Given the description of an element on the screen output the (x, y) to click on. 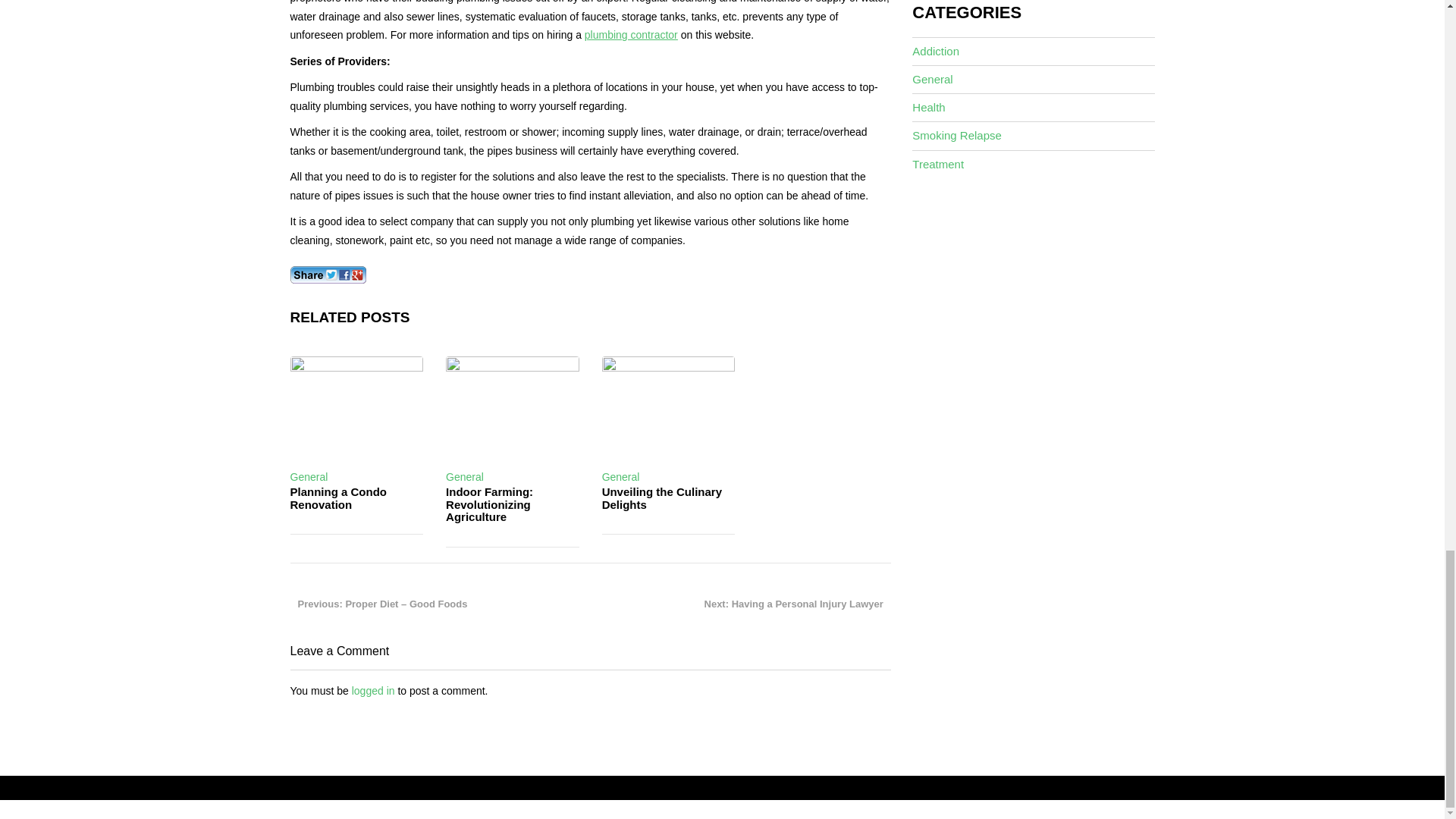
logged in (373, 690)
plumbing contractor (631, 34)
General (621, 476)
General (308, 476)
Indoor Farming: Revolutionizing Agriculture (488, 504)
General (464, 476)
Unveiling the Culinary Delights (662, 498)
Planning a Condo Renovation (338, 498)
